Given the description of an element on the screen output the (x, y) to click on. 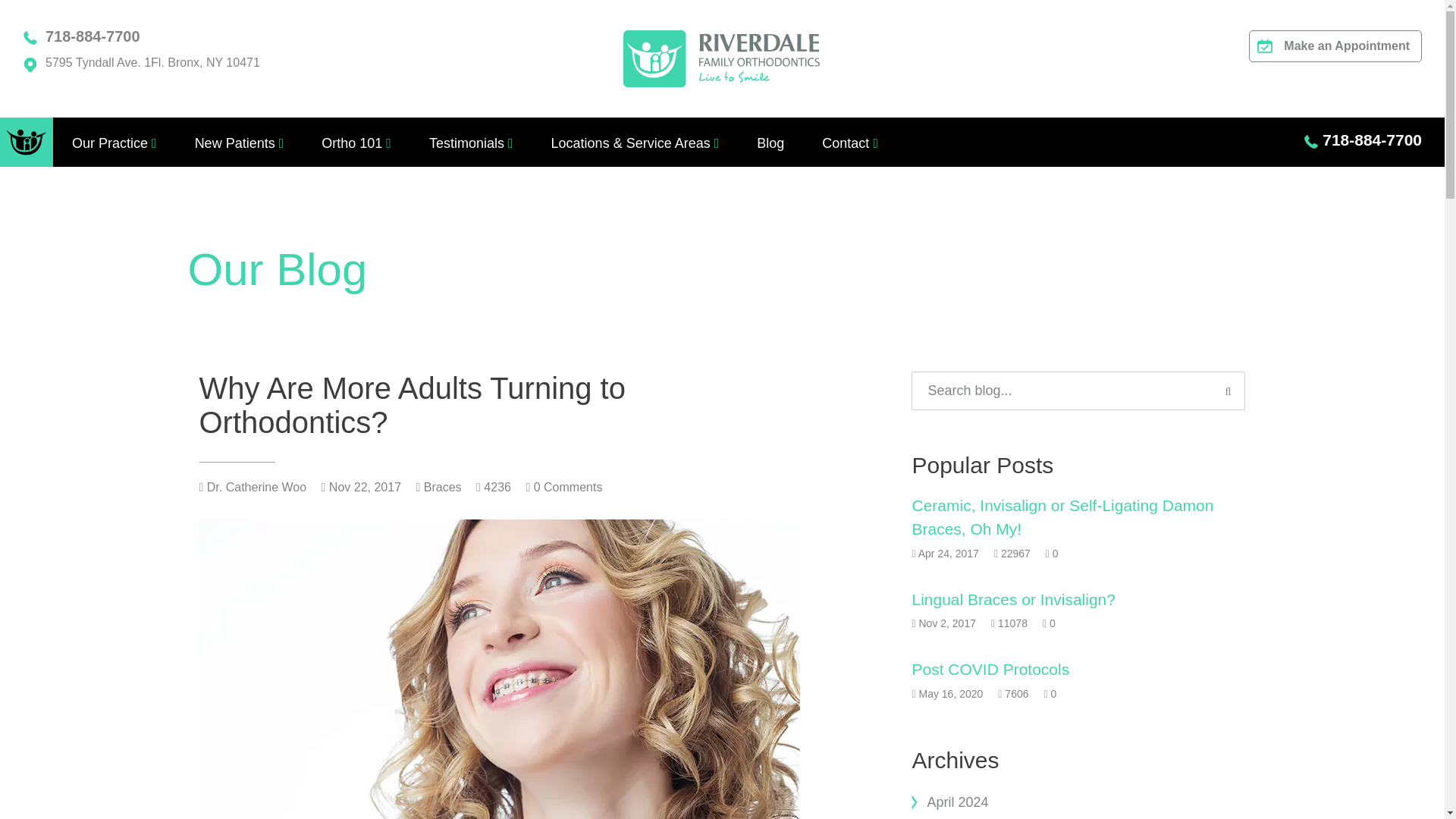
Testimonials (466, 142)
Home (26, 142)
Ortho 101 (351, 142)
Contact (845, 142)
Make an Appointment (1335, 46)
Our Practice (109, 142)
5795 Tyndall Ave. 1Fl. Bronx, NY 10471 (152, 62)
New Patients (235, 142)
Blog (770, 142)
718-884-7700 (92, 36)
